Given the description of an element on the screen output the (x, y) to click on. 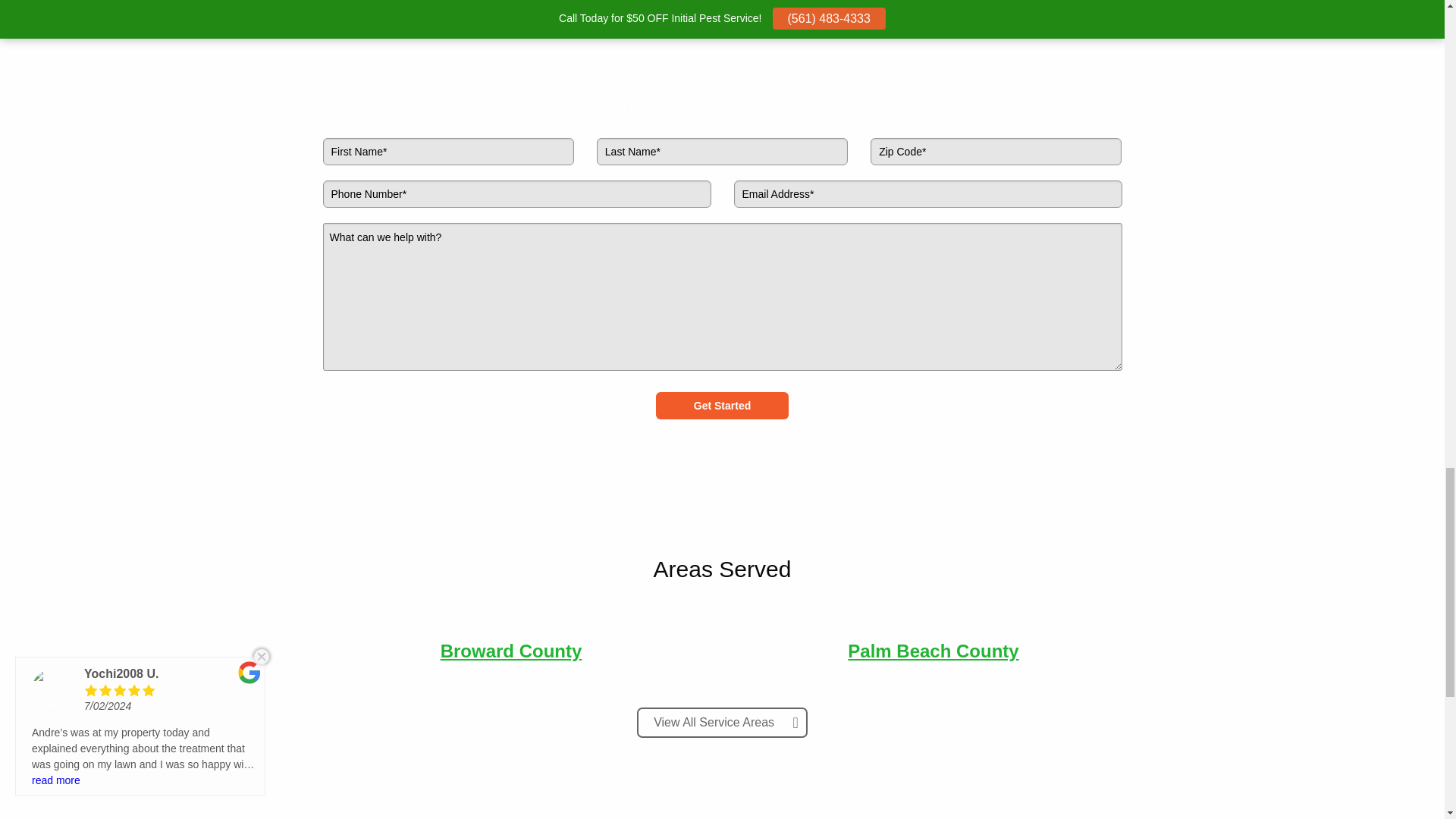
Get Started (722, 405)
